Given the description of an element on the screen output the (x, y) to click on. 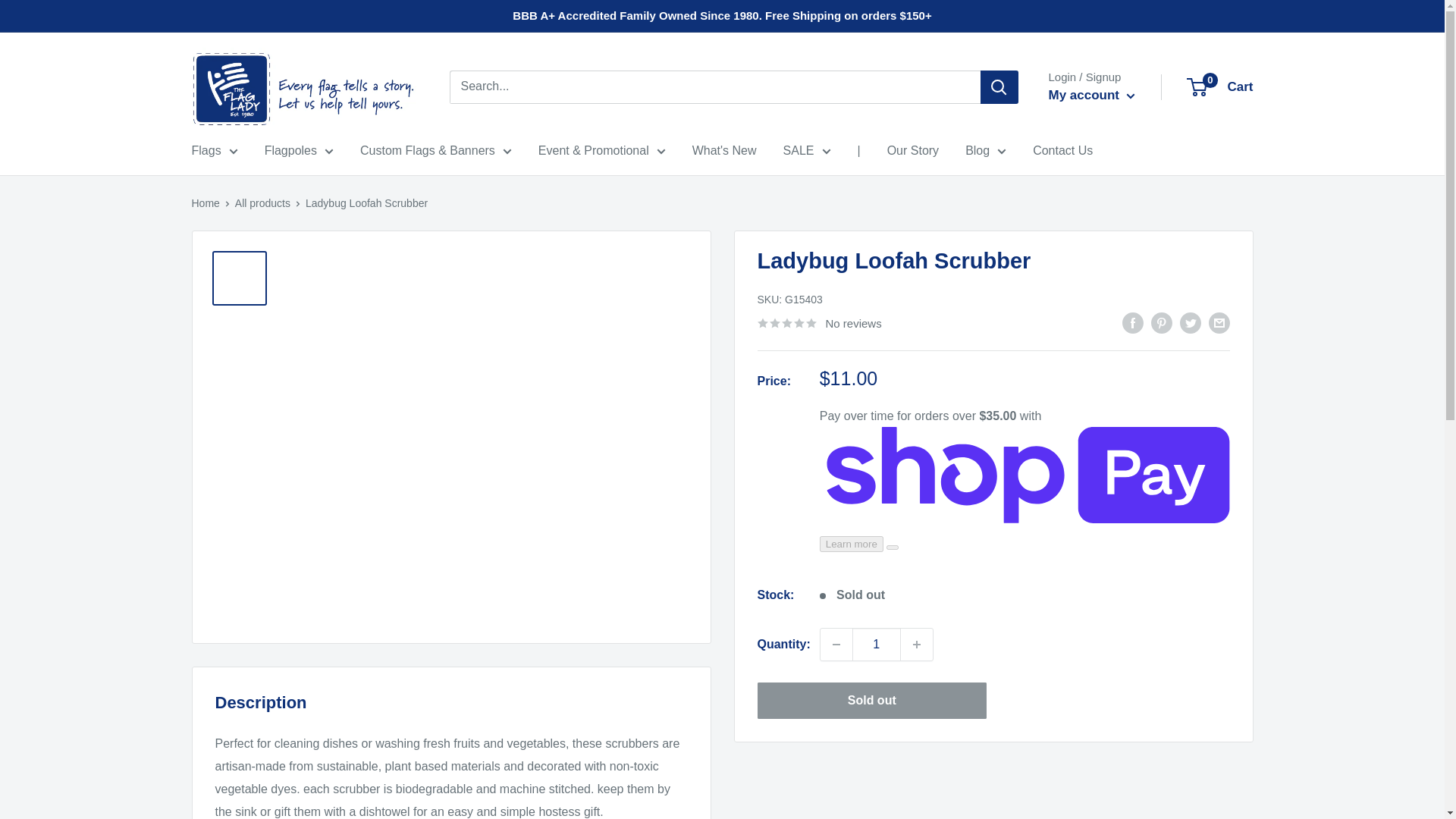
1 (876, 644)
Increase quantity by 1 (917, 644)
Decrease quantity by 1 (836, 644)
